Given the description of an element on the screen output the (x, y) to click on. 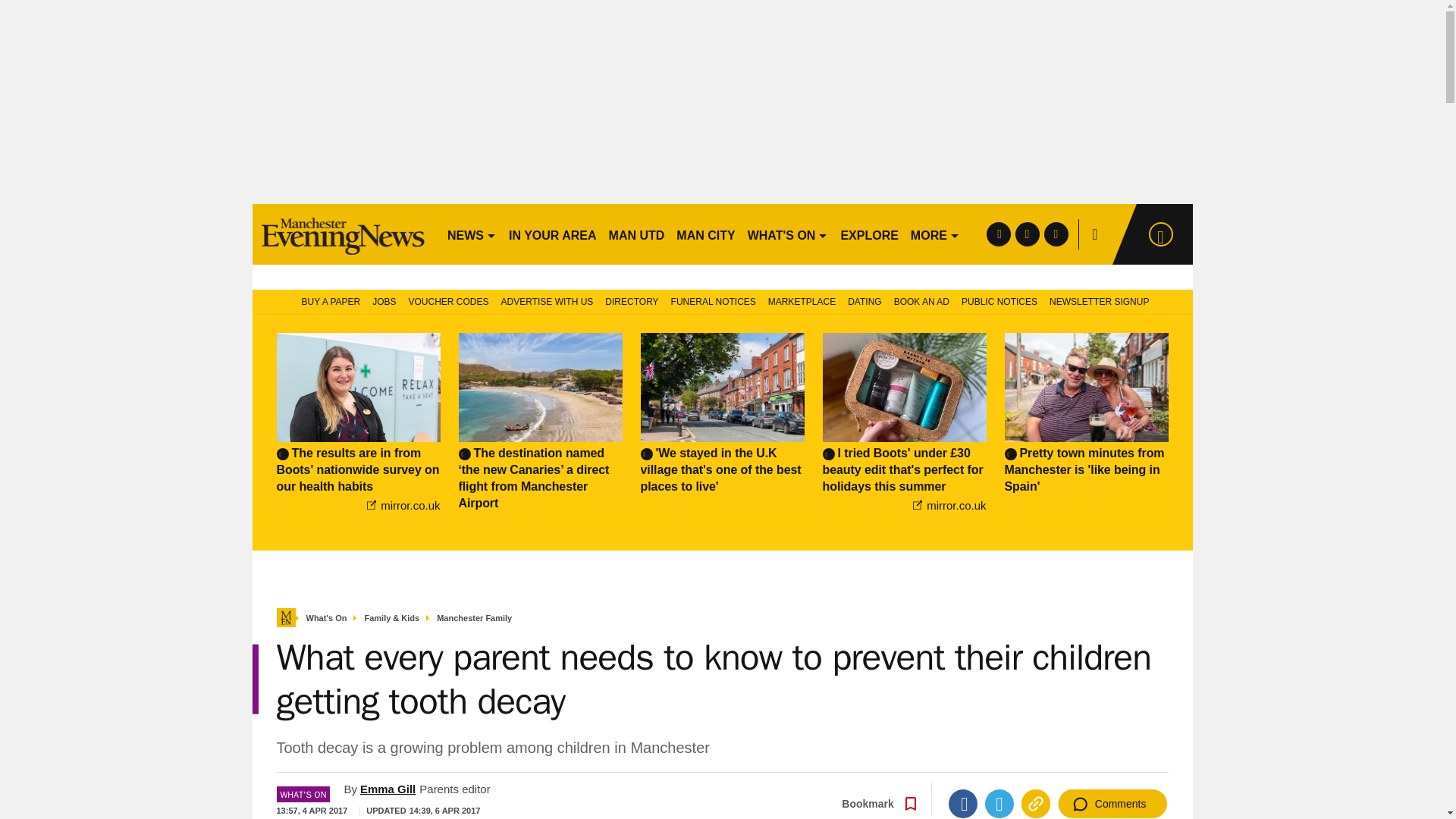
Comments (1112, 803)
twitter (1026, 233)
NEWS (471, 233)
facebook (997, 233)
instagram (1055, 233)
Twitter (999, 803)
Facebook (962, 803)
MAN UTD (636, 233)
men (342, 233)
IN YOUR AREA (552, 233)
MAN CITY (705, 233)
WHAT'S ON (787, 233)
